Given the description of an element on the screen output the (x, y) to click on. 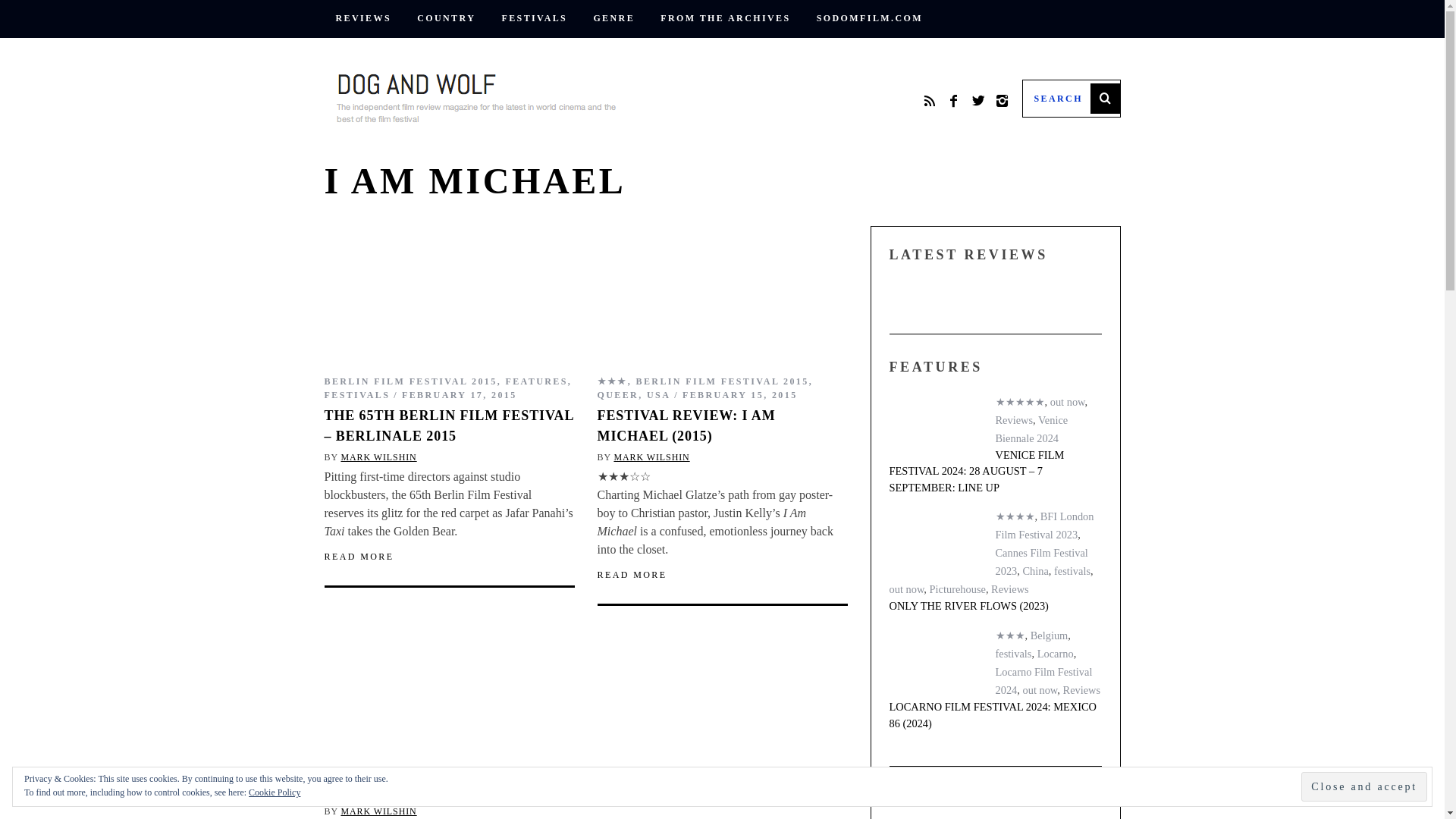
REVIEWS (363, 18)
COUNTRY (446, 18)
Close and accept (1363, 786)
Search (1071, 98)
